Given the description of an element on the screen output the (x, y) to click on. 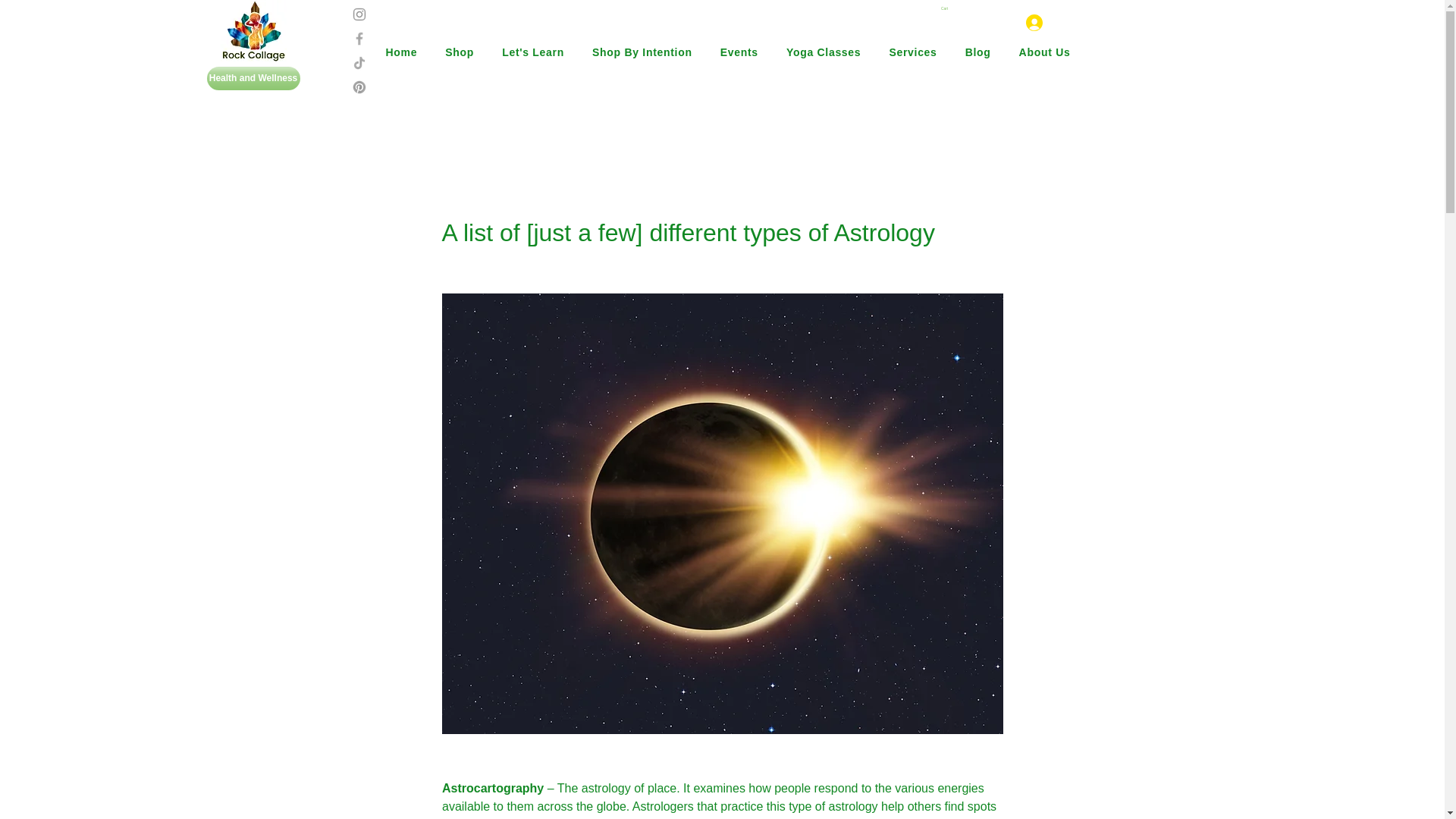
Home (394, 51)
Health and Wellness (252, 78)
Cart (943, 8)
Log In (1031, 22)
Cart (943, 8)
